Given the description of an element on the screen output the (x, y) to click on. 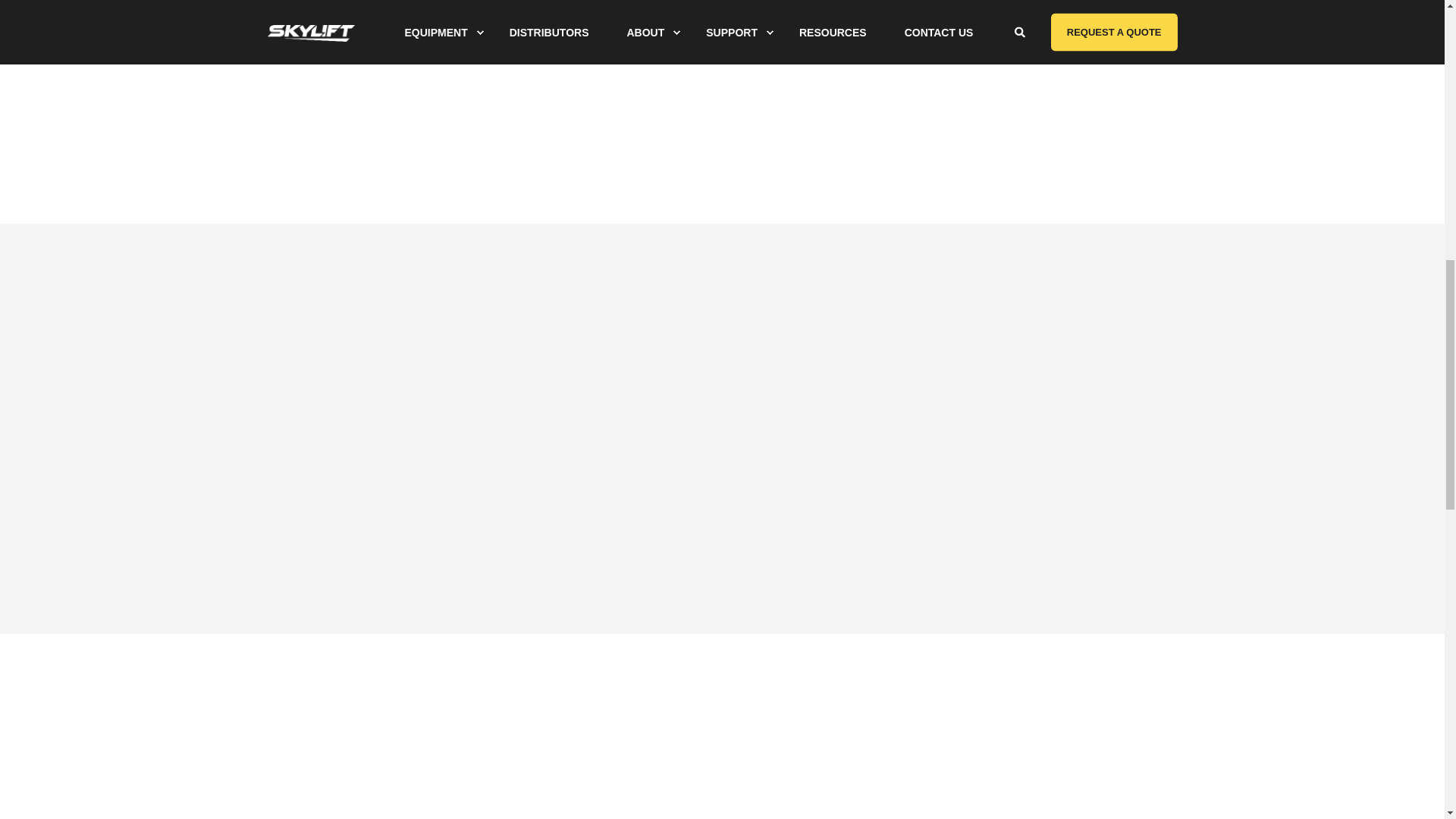
YouTube video player (954, 403)
